Given the description of an element on the screen output the (x, y) to click on. 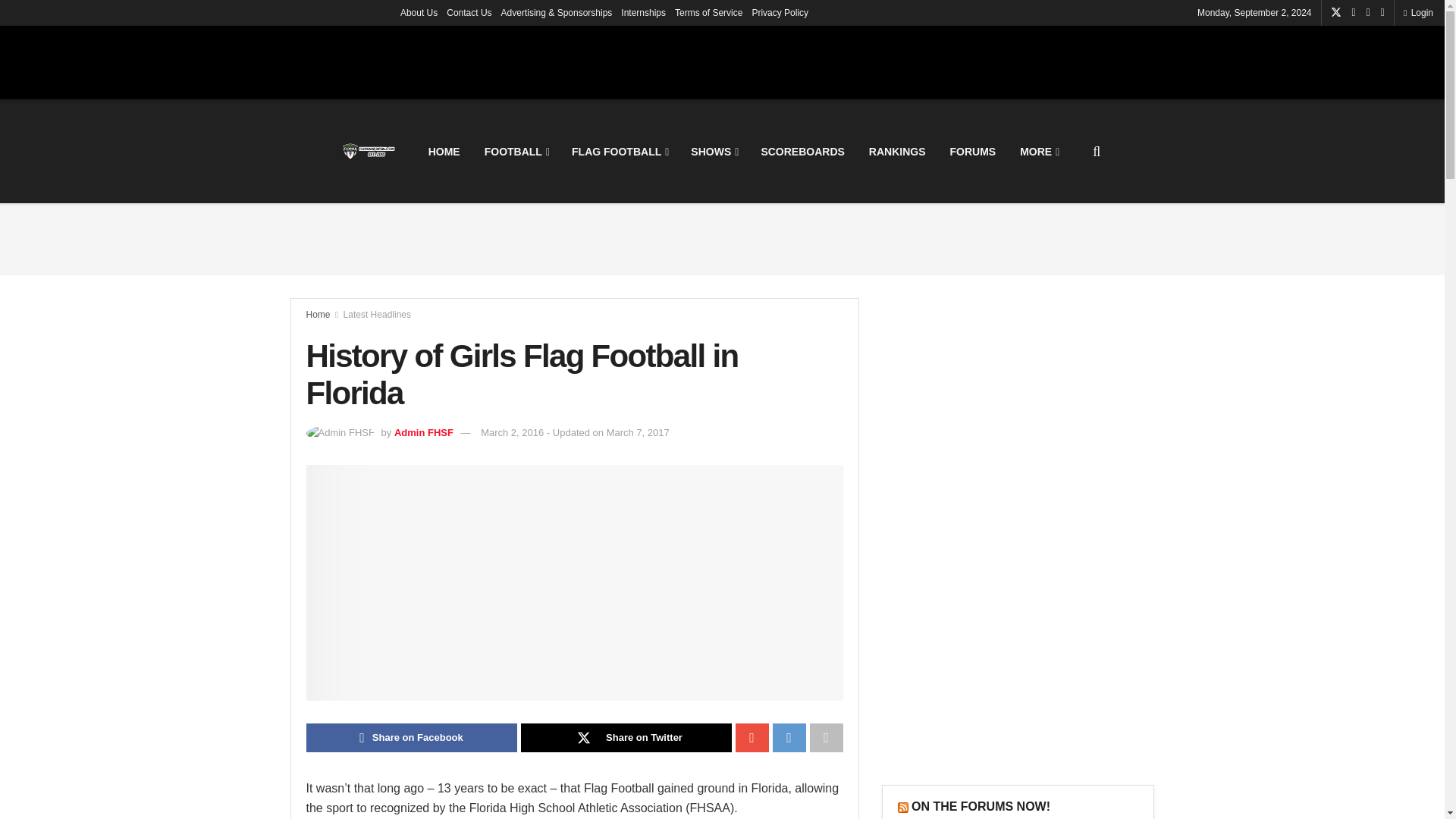
FOOTBALL (515, 150)
Internships (643, 12)
Advertisement (721, 239)
FLAG FOOTBALL (618, 150)
RANKINGS (897, 150)
Realtime sports scoreboard widget (721, 60)
Terms of Service (708, 12)
SHOWS (713, 150)
MORE (1037, 150)
About Us (419, 12)
